Given the description of an element on the screen output the (x, y) to click on. 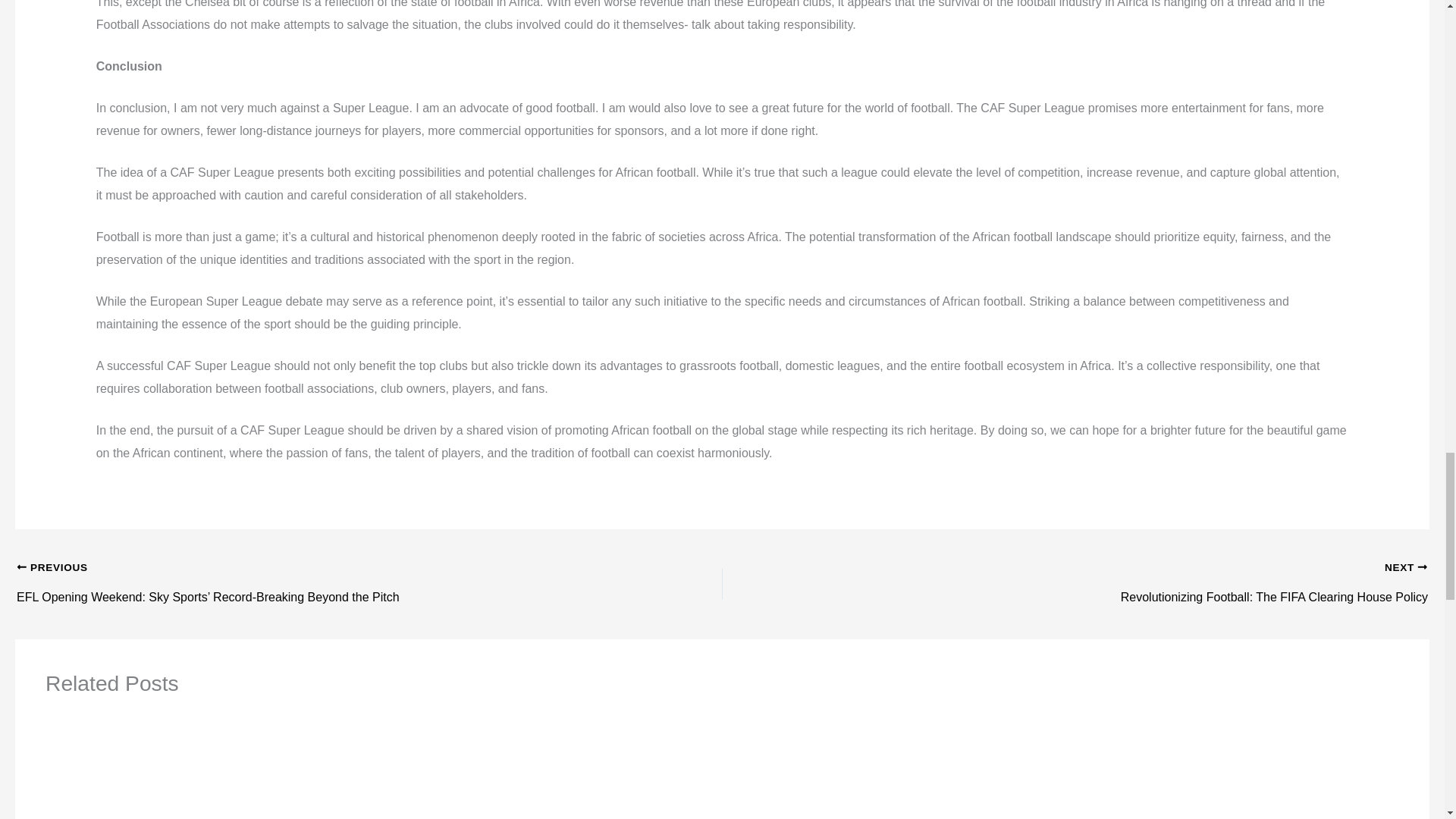
Revolutionizing Football: The FIFA Clearing House Policy (1144, 569)
